Given the description of an element on the screen output the (x, y) to click on. 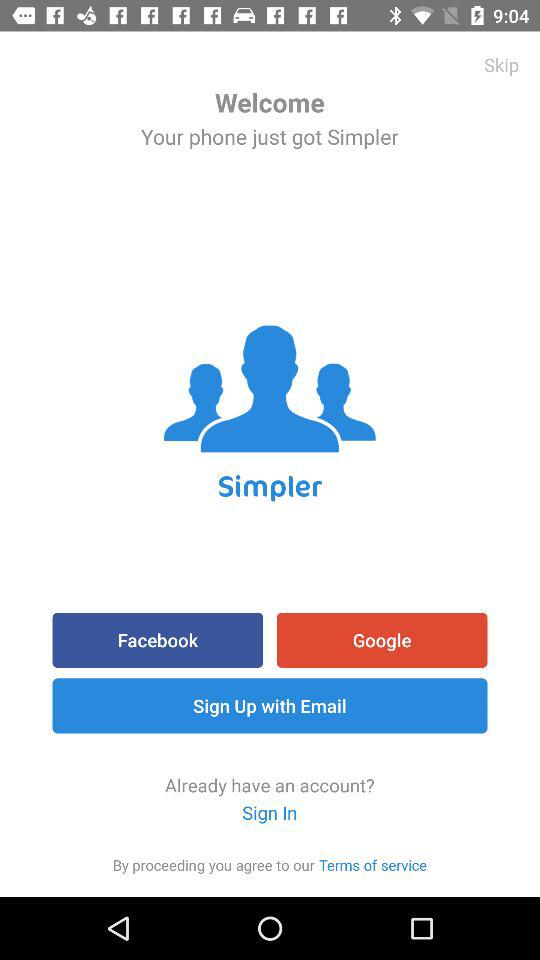
launch icon below already have an (373, 864)
